Given the description of an element on the screen output the (x, y) to click on. 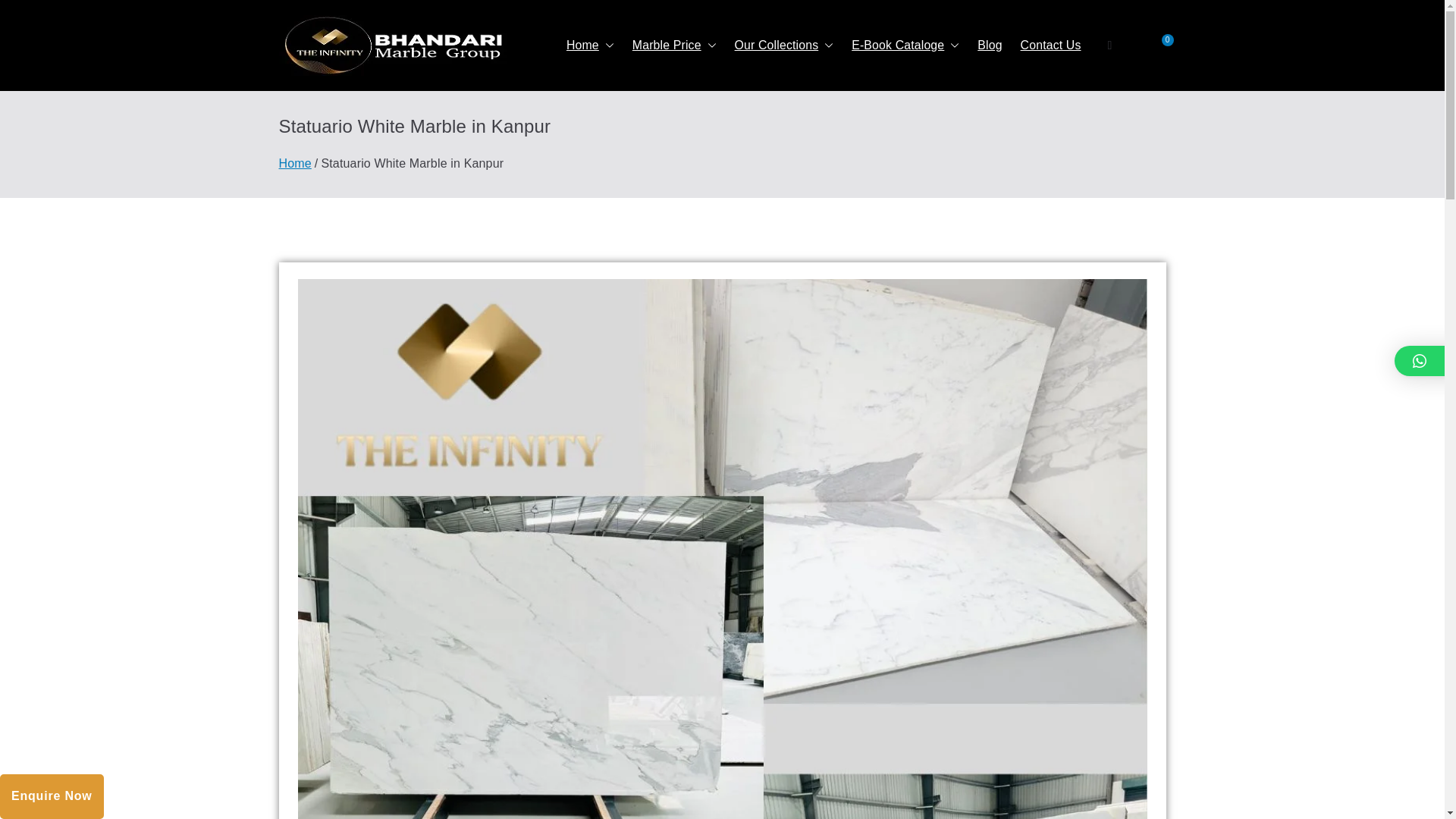
E-Book Cataloge (905, 45)
View your shopping cart (1158, 45)
Contact Us (1050, 45)
Our Collections (784, 45)
Bhandari Marble Group (691, 64)
Marble Price (673, 45)
Blog (988, 45)
0 (1158, 45)
Home (590, 45)
